Given the description of an element on the screen output the (x, y) to click on. 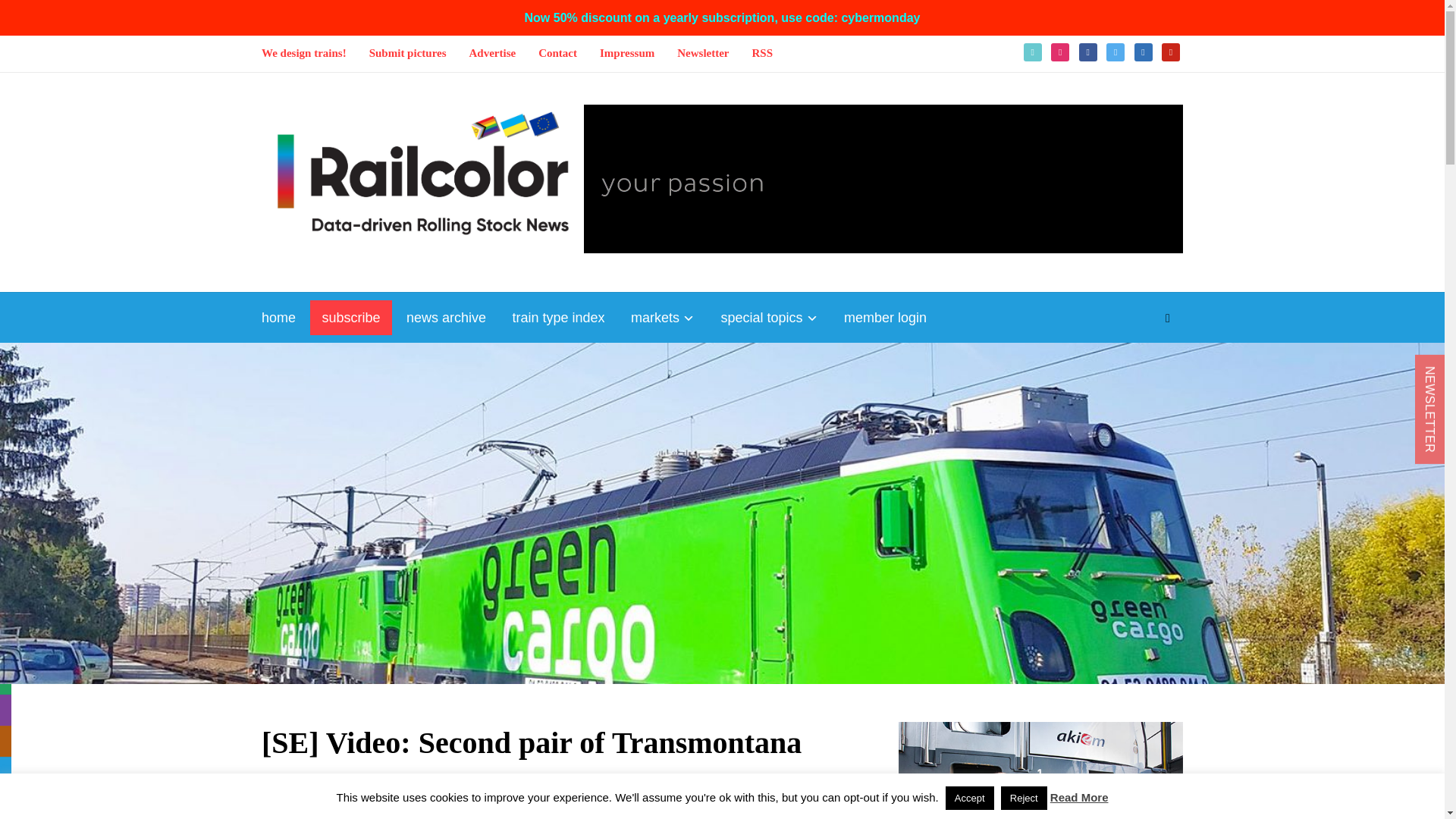
We design trains! (304, 53)
Facebook (1087, 51)
Twitter (1115, 51)
Contact (557, 53)
Default Label (1170, 51)
Instagram (1059, 51)
Search (1167, 318)
Advertise (492, 53)
pinterest (1170, 51)
facebook (1087, 51)
instagram (1059, 51)
Impressum (626, 53)
Submit pictures (407, 53)
tiktok (1032, 51)
Newsletter (703, 53)
